Given the description of an element on the screen output the (x, y) to click on. 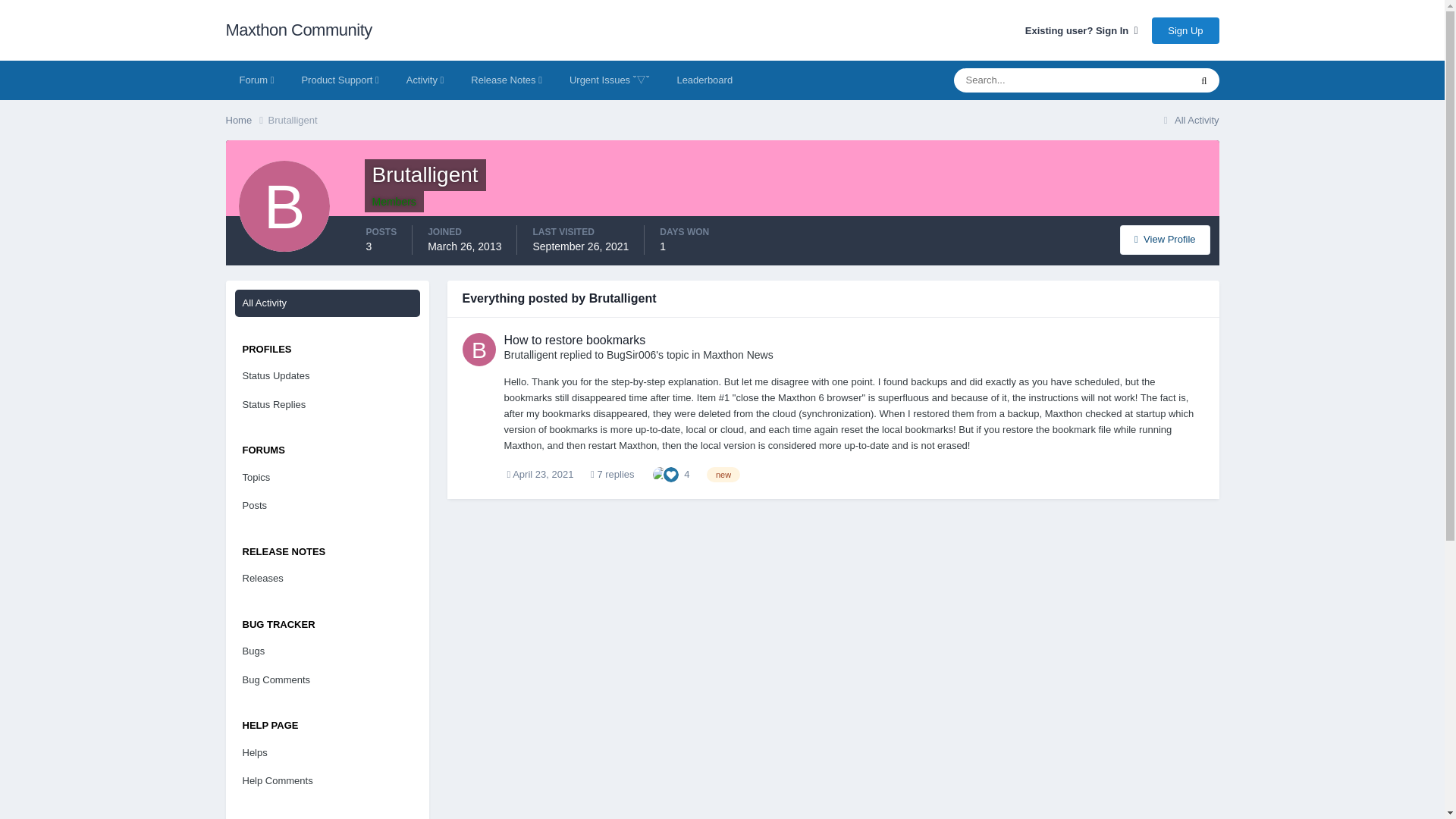
Find other content tagged with 'new' (722, 474)
Go to Brutalligent's profile (529, 354)
Existing user? Sign In   (1081, 30)
Release Notes (506, 79)
Home (246, 120)
Go to Brutalligent's profile (479, 349)
Like (670, 473)
Home (246, 120)
All Activity (1188, 120)
 View Profile (1164, 239)
Go to BugSir006's profile (631, 354)
Brutalligent's Profile (1164, 239)
Maxthon Community (298, 30)
Product Support (338, 79)
Brutalligent (292, 120)
